Given the description of an element on the screen output the (x, y) to click on. 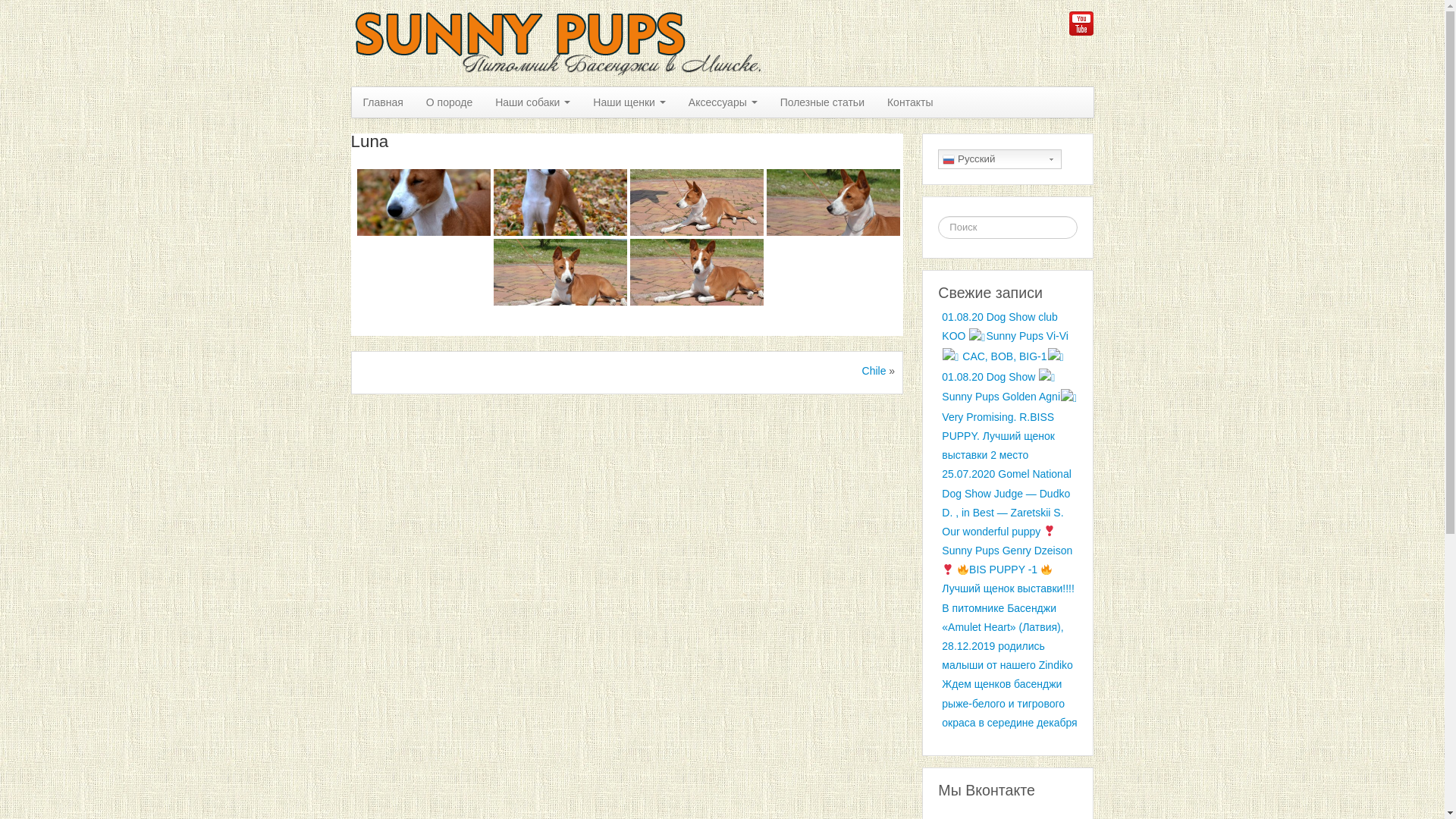
Basenji Element type: hover (562, 42)
Luna Element type: text (369, 140)
01.08.20 Dog Show club KOO Sunny Pups Vi-Vi CAC, BOB, BIG-1 Element type: text (1004, 336)
